Given the description of an element on the screen output the (x, y) to click on. 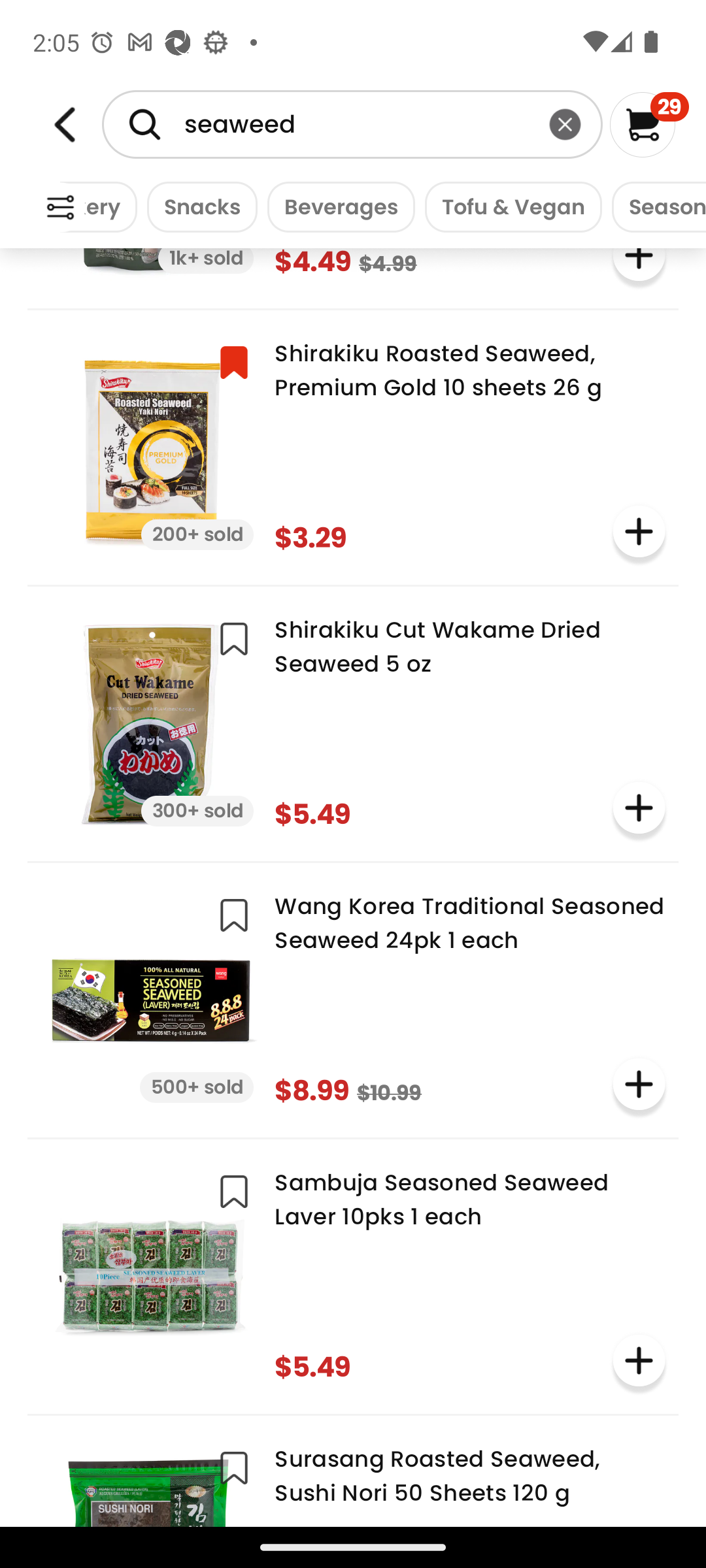
seaweed (351, 124)
29 (649, 124)
Weee! (60, 207)
Bakery (98, 206)
Snacks (196, 206)
Beverages (336, 206)
Tofu & Vegan (508, 206)
Seasoning (654, 206)
Sambuja Seasoned Seaweed Laver 10pks 1 each $5.49 (352, 1274)
